Given the description of an element on the screen output the (x, y) to click on. 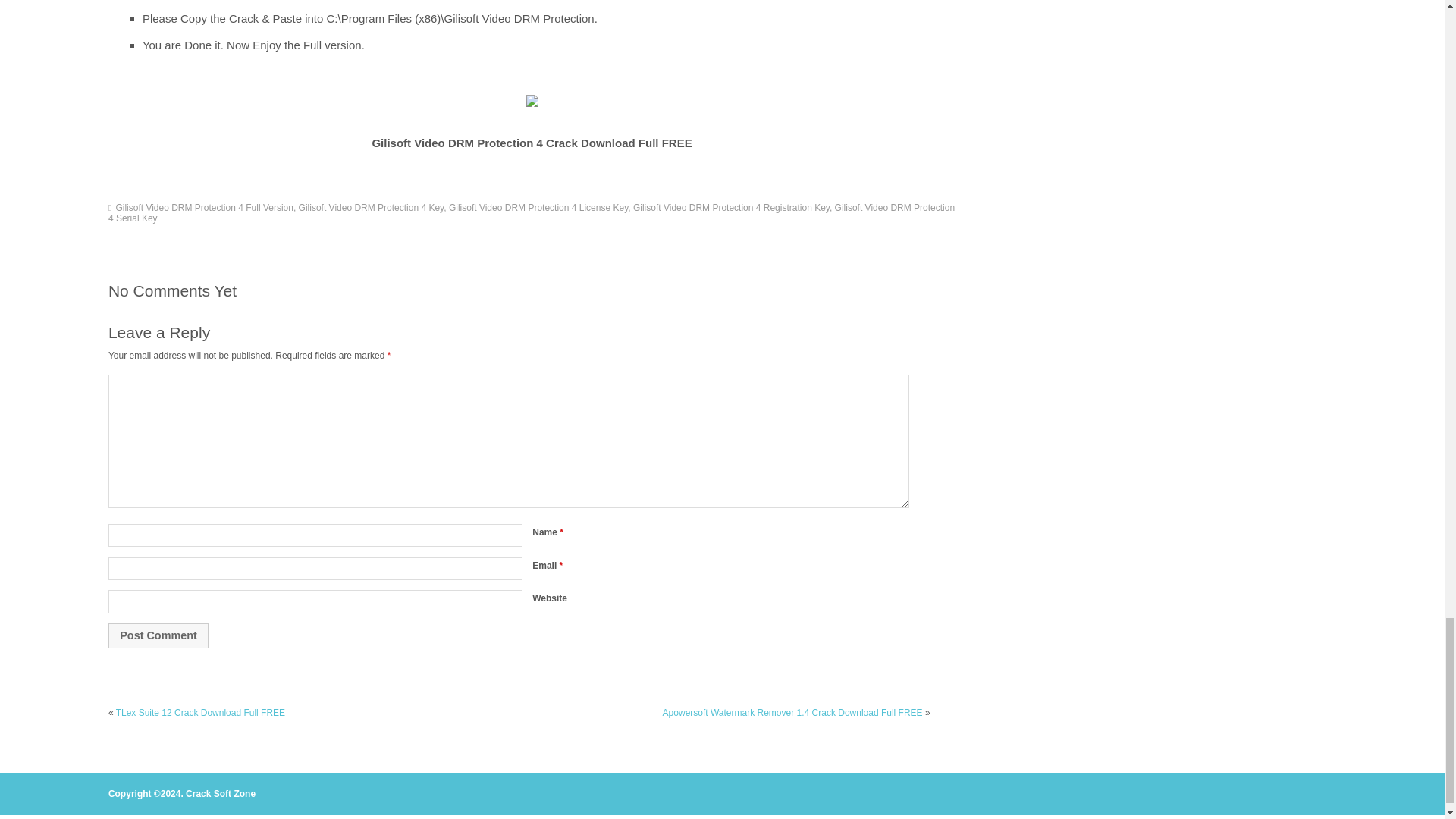
Gilisoft Video DRM Protection 4 License Key (537, 207)
Gilisoft Video DRM Protection 4 Key (371, 207)
TLex Suite 12 Crack Download Full FREE (200, 712)
Gilisoft Video DRM Protection 4 Registration Key (731, 207)
Post Comment (157, 635)
Apowersoft Watermark Remover 1.4 Crack Download Full FREE (792, 712)
Gilisoft Video DRM Protection 4 Full Version (204, 207)
Gilisoft Video DRM Protection 4 Serial Key (531, 212)
Post Comment (157, 635)
